Given the description of an element on the screen output the (x, y) to click on. 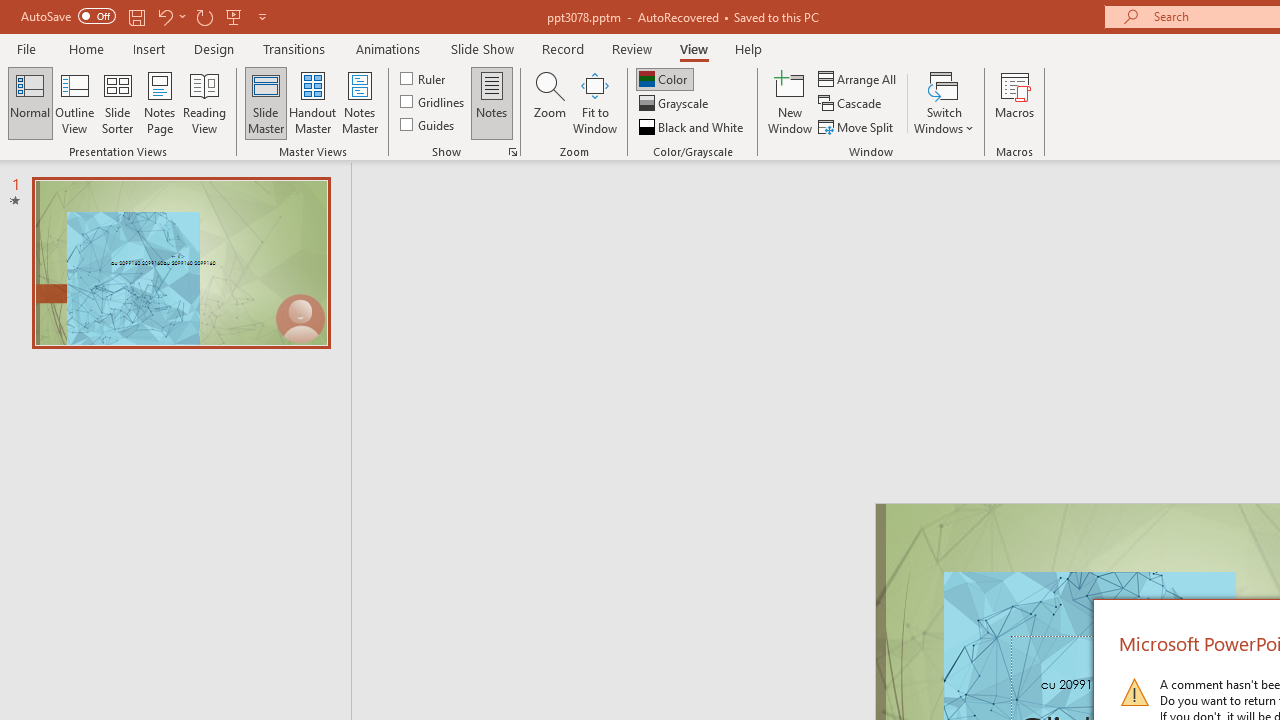
Ruler (423, 78)
Color (664, 78)
Handout Master (312, 102)
Notes (492, 102)
Guides (428, 124)
New Window (790, 102)
Grid Settings... (512, 151)
